Given the description of an element on the screen output the (x, y) to click on. 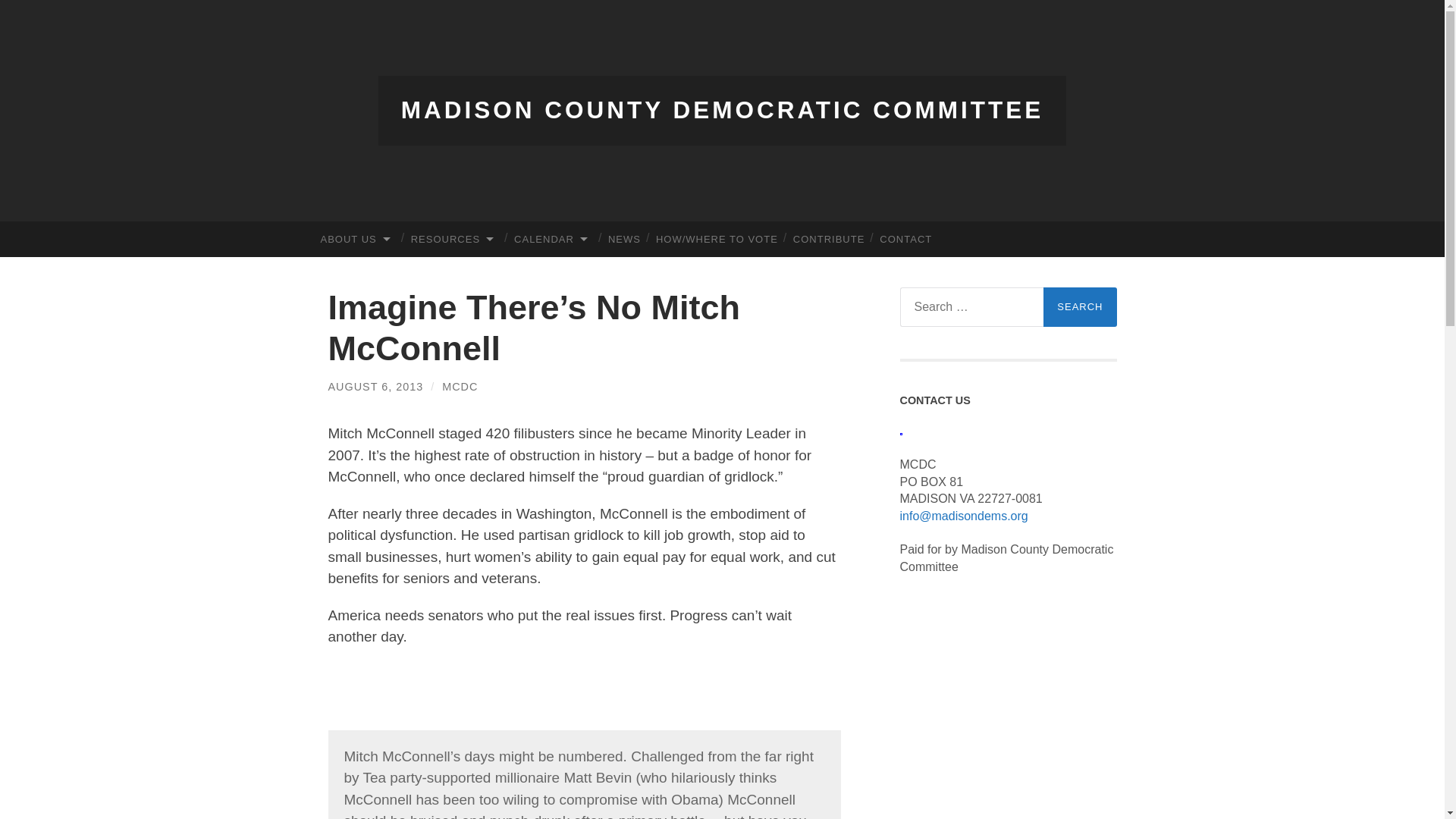
Posts by MCDC (459, 386)
RESOURCES (454, 239)
CALENDAR (552, 239)
MADISON COUNTY DEMOCRATIC COMMITTEE (722, 109)
ABOUT US (358, 239)
Search (1079, 305)
AUGUST 6, 2013 (375, 386)
MCDC (459, 386)
NEWS (623, 239)
CONTACT (905, 239)
Search (1079, 305)
CONTRIBUTE (829, 239)
